Given the description of an element on the screen output the (x, y) to click on. 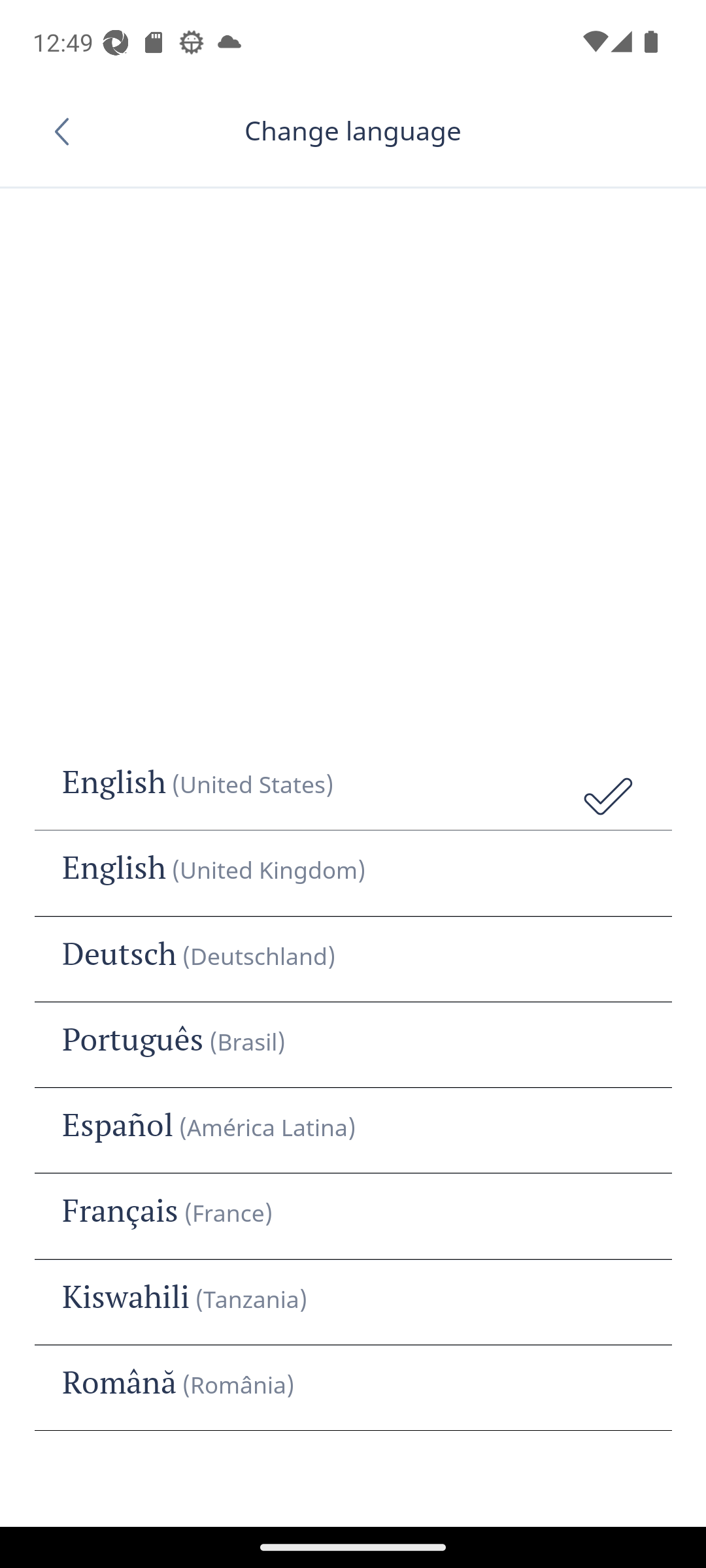
Go back, Navigates to the previous screen (68, 131)
English (United States)  (353, 787)
English (United Kingdom) (353, 874)
Deutsch (Deutschland) (353, 959)
Português (Brasil) (353, 1044)
Español (América Latina) (353, 1130)
Français (France) (353, 1215)
Kiswahili (Tanzania) (353, 1302)
Română (România) (353, 1387)
